Given the description of an element on the screen output the (x, y) to click on. 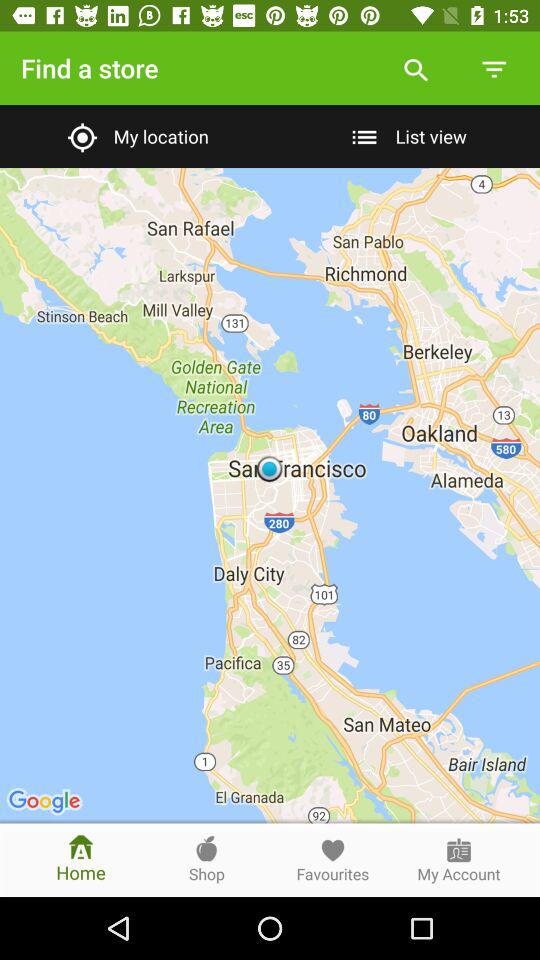
choose the icon below find a store (134, 136)
